Given the description of an element on the screen output the (x, y) to click on. 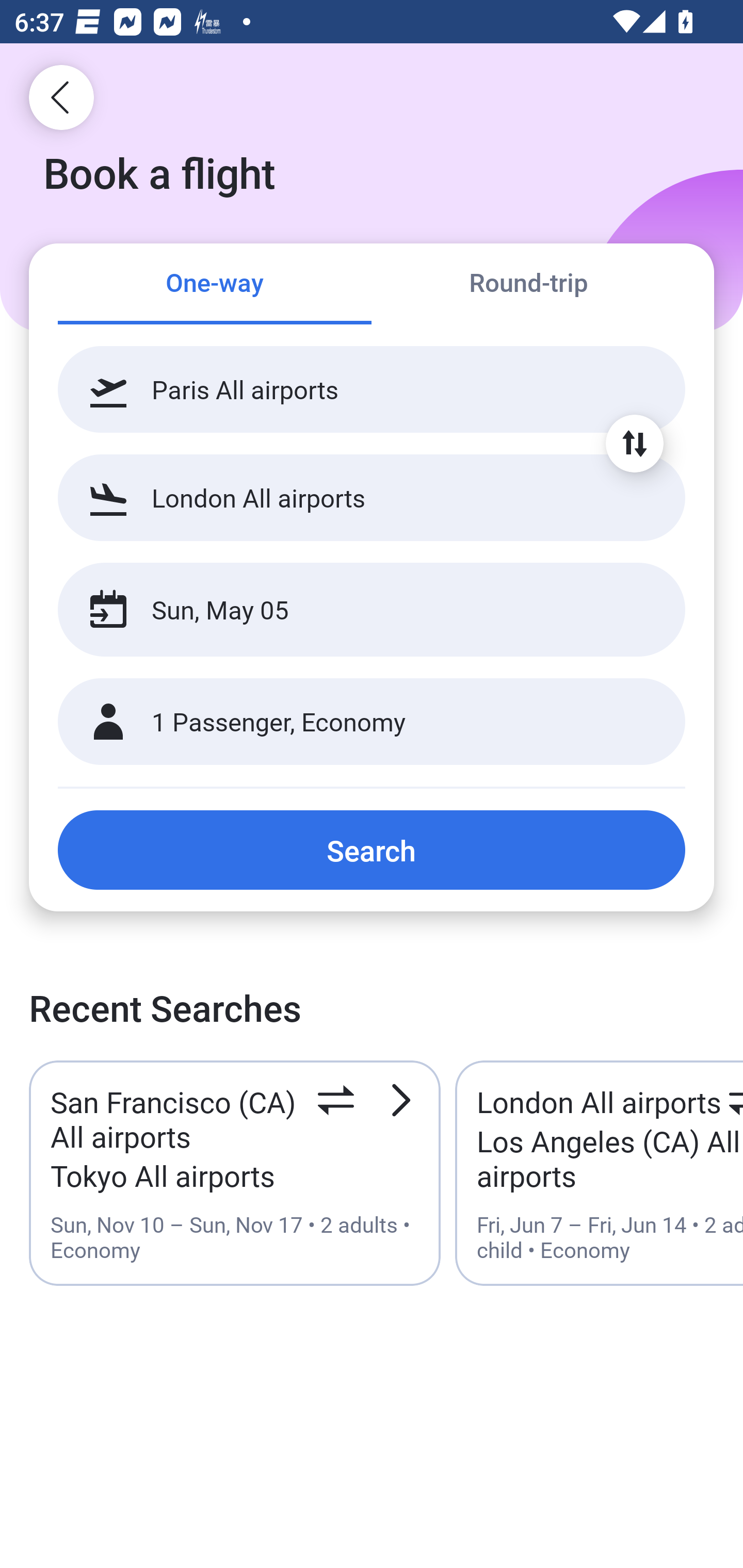
Round-trip (528, 284)
Paris All airports (371, 389)
London All airports (371, 497)
Sun, May 05 (349, 609)
1 Passenger, Economy (371, 721)
Search (371, 849)
